Given the description of an element on the screen output the (x, y) to click on. 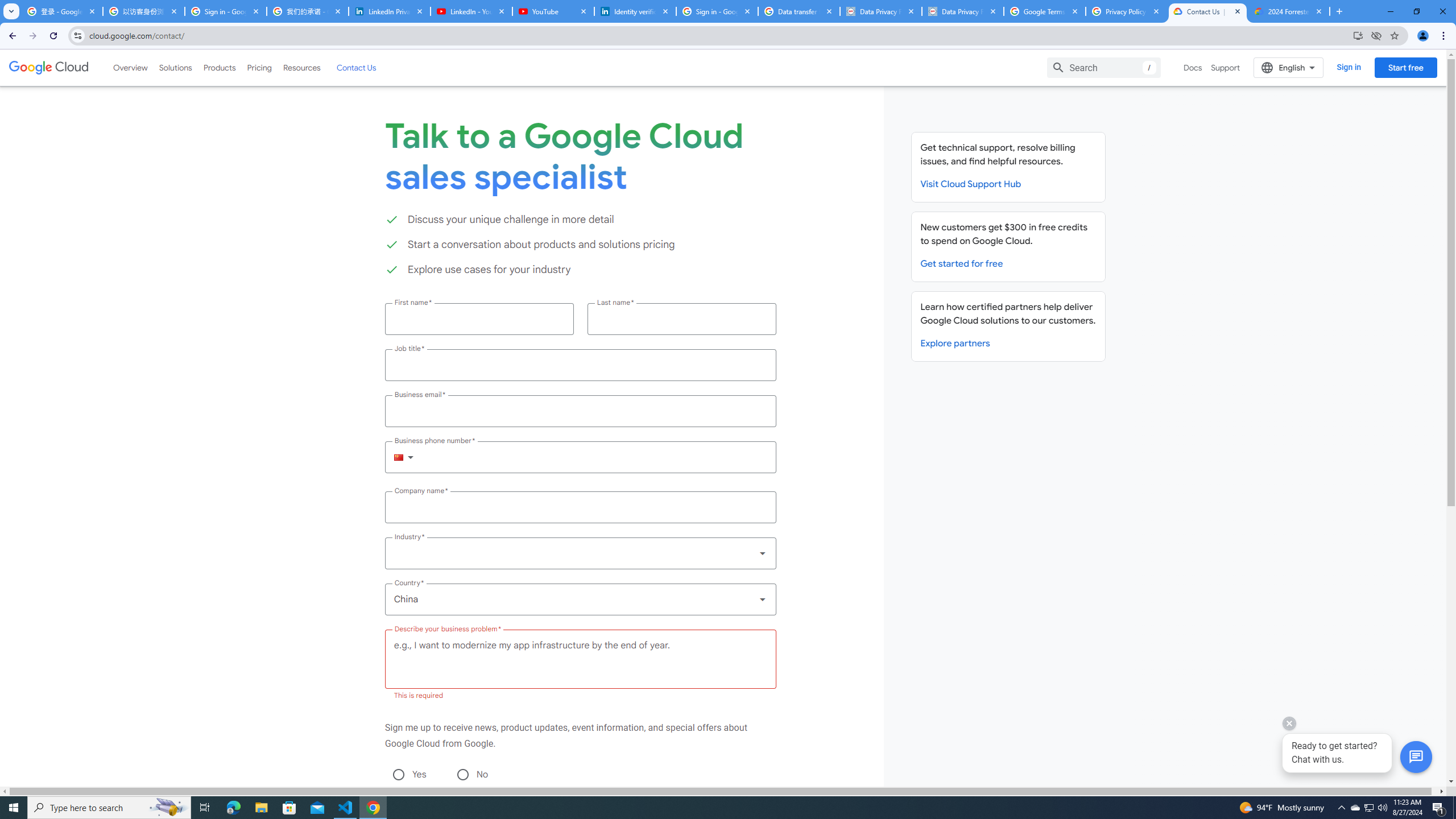
Sign in - Google Accounts (716, 11)
Data Privacy Framework (963, 11)
YouTube (552, 11)
Yes (398, 773)
Products (218, 67)
Company name * (580, 507)
Support (1225, 67)
Resources (301, 67)
Contact Us (355, 67)
Sign in - Google Accounts (225, 11)
